Given the description of an element on the screen output the (x, y) to click on. 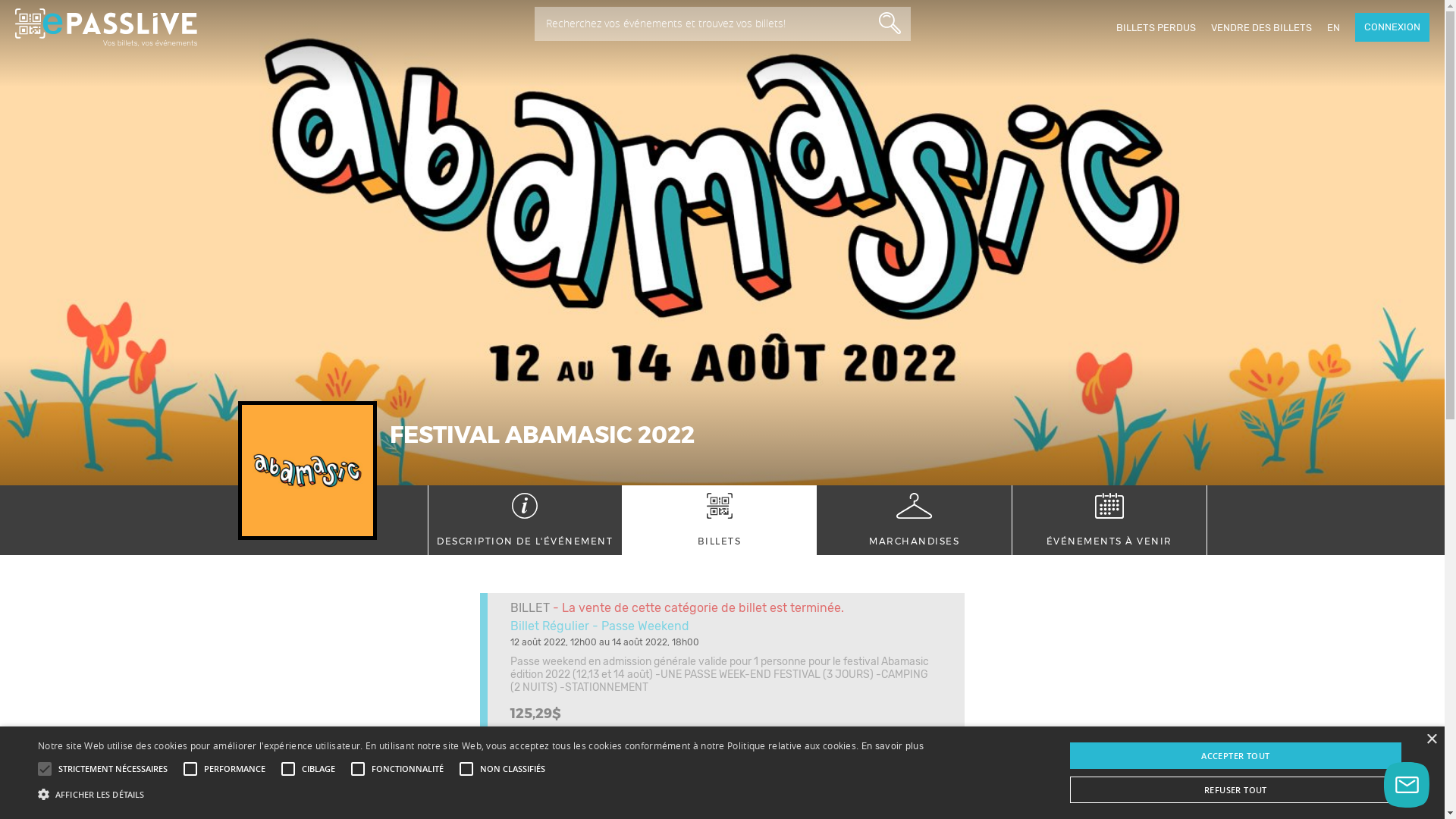
BILLETS Element type: text (718, 520)
EN Element type: text (1333, 26)
MARCHANDISES Element type: text (914, 520)
CONNEXION Element type: text (1392, 26)
En savoir plus Element type: text (892, 745)
VENDRE DES BILLETS Element type: text (1261, 26)
BILLETS PERDUS Element type: text (1155, 26)
